Given the description of an element on the screen output the (x, y) to click on. 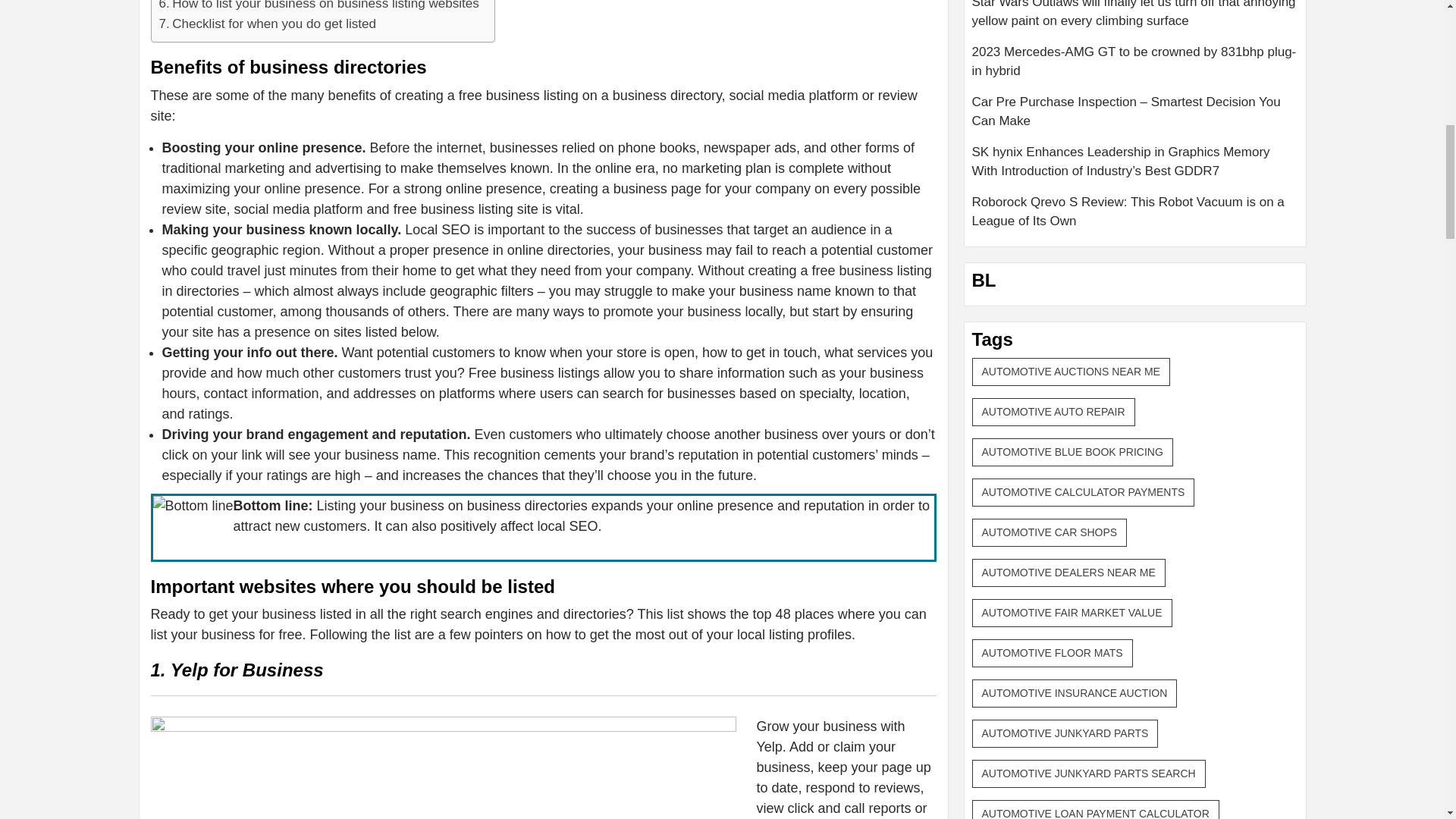
How to list your business on business listing websites (318, 6)
Checklist for when you do get listed (267, 23)
Checklist for when you do get listed (267, 23)
How to list your business on business listing websites (318, 6)
